Given the description of an element on the screen output the (x, y) to click on. 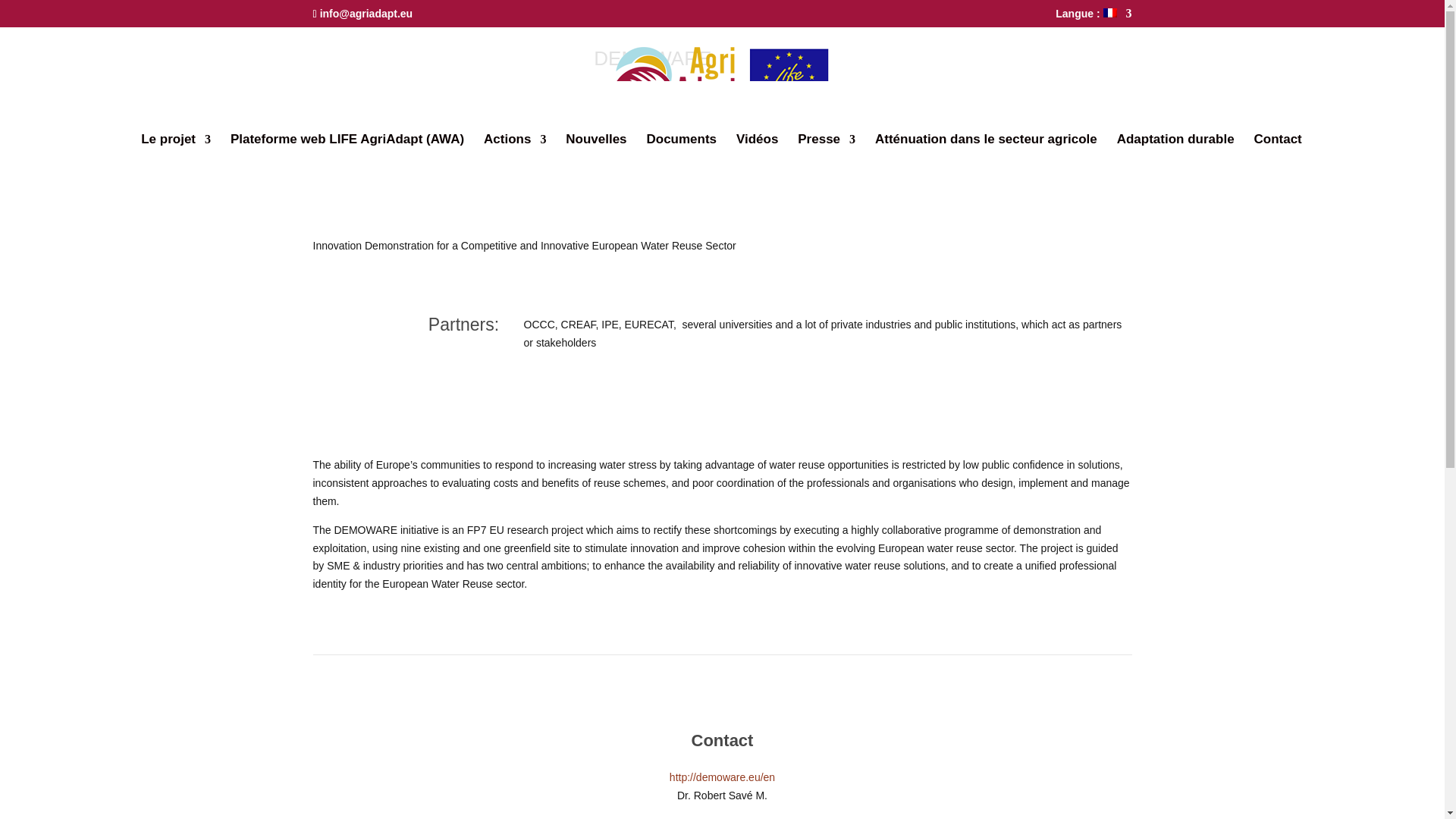
Nouvelles (596, 149)
Le projet (176, 149)
Presse (826, 149)
Langue :  (1093, 16)
English (263, 8)
Documents (681, 149)
Actions (514, 149)
